Given the description of an element on the screen output the (x, y) to click on. 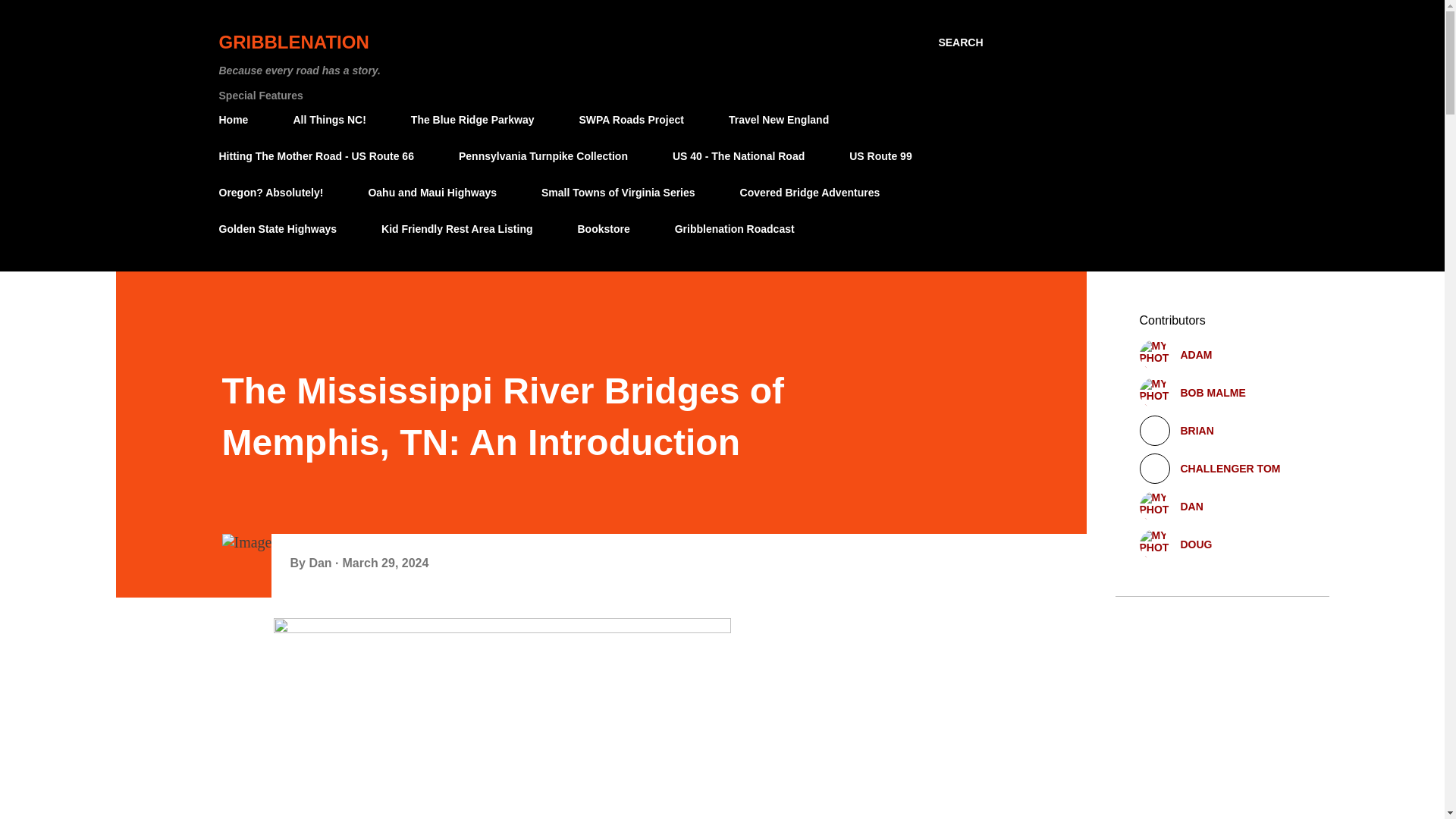
SWPA Roads Project (631, 119)
US Route 99 (880, 155)
Hitting The Mother Road - US Route 66 (320, 155)
Travel New England (778, 119)
Golden State Highways (282, 228)
Covered Bridge Adventures (809, 192)
All Things NC! (328, 119)
Bookstore (604, 228)
Dan (321, 562)
Pennsylvania Turnpike Collection (543, 155)
